Given the description of an element on the screen output the (x, y) to click on. 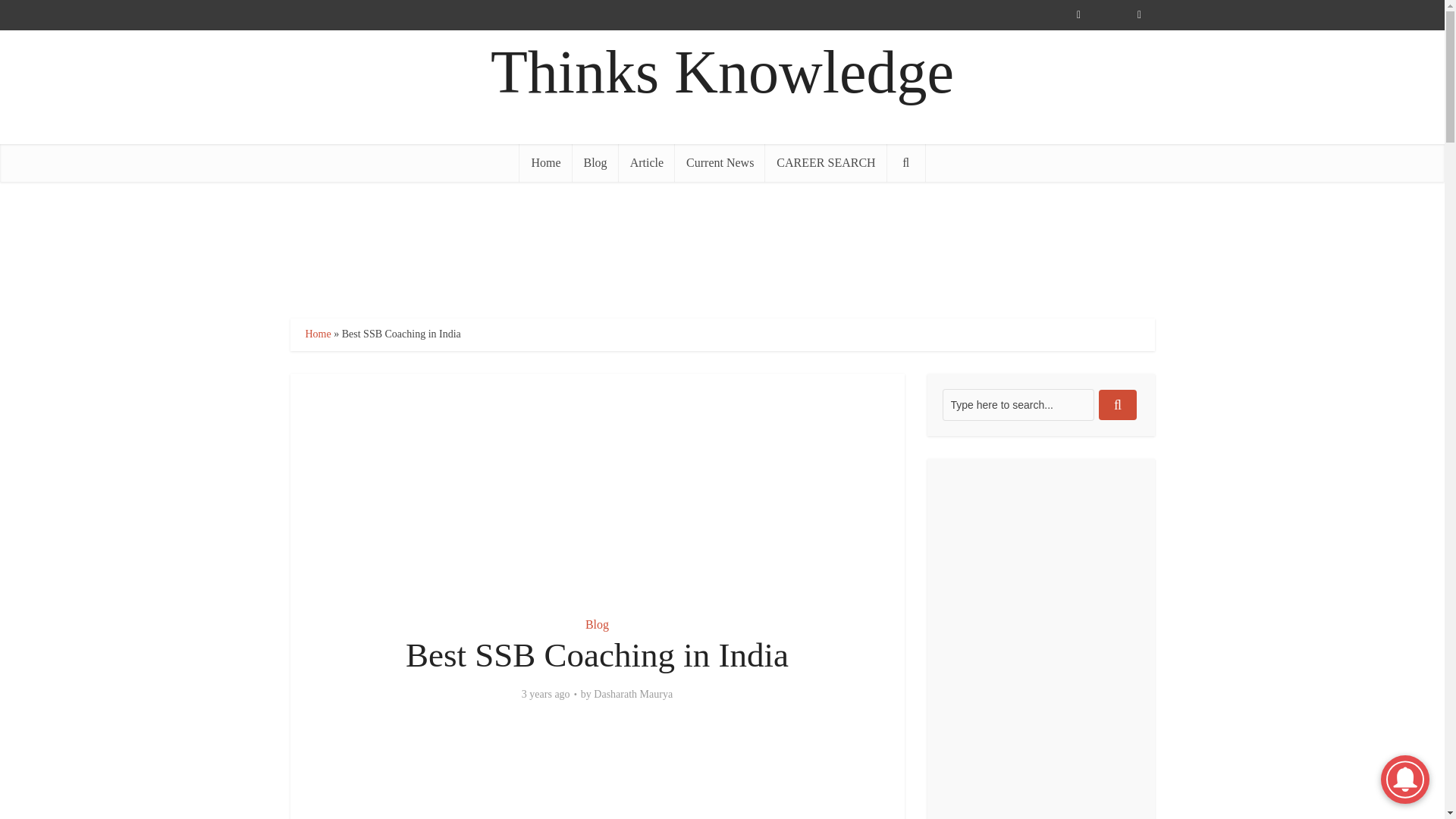
Dasharath Maurya (633, 694)
Type here to search... (1017, 404)
Blog (596, 624)
Article (646, 162)
Home (317, 333)
Blog (594, 162)
Type here to search... (1017, 404)
CAREER SEARCH (825, 162)
Home (545, 162)
Advertisement (596, 486)
